Given the description of an element on the screen output the (x, y) to click on. 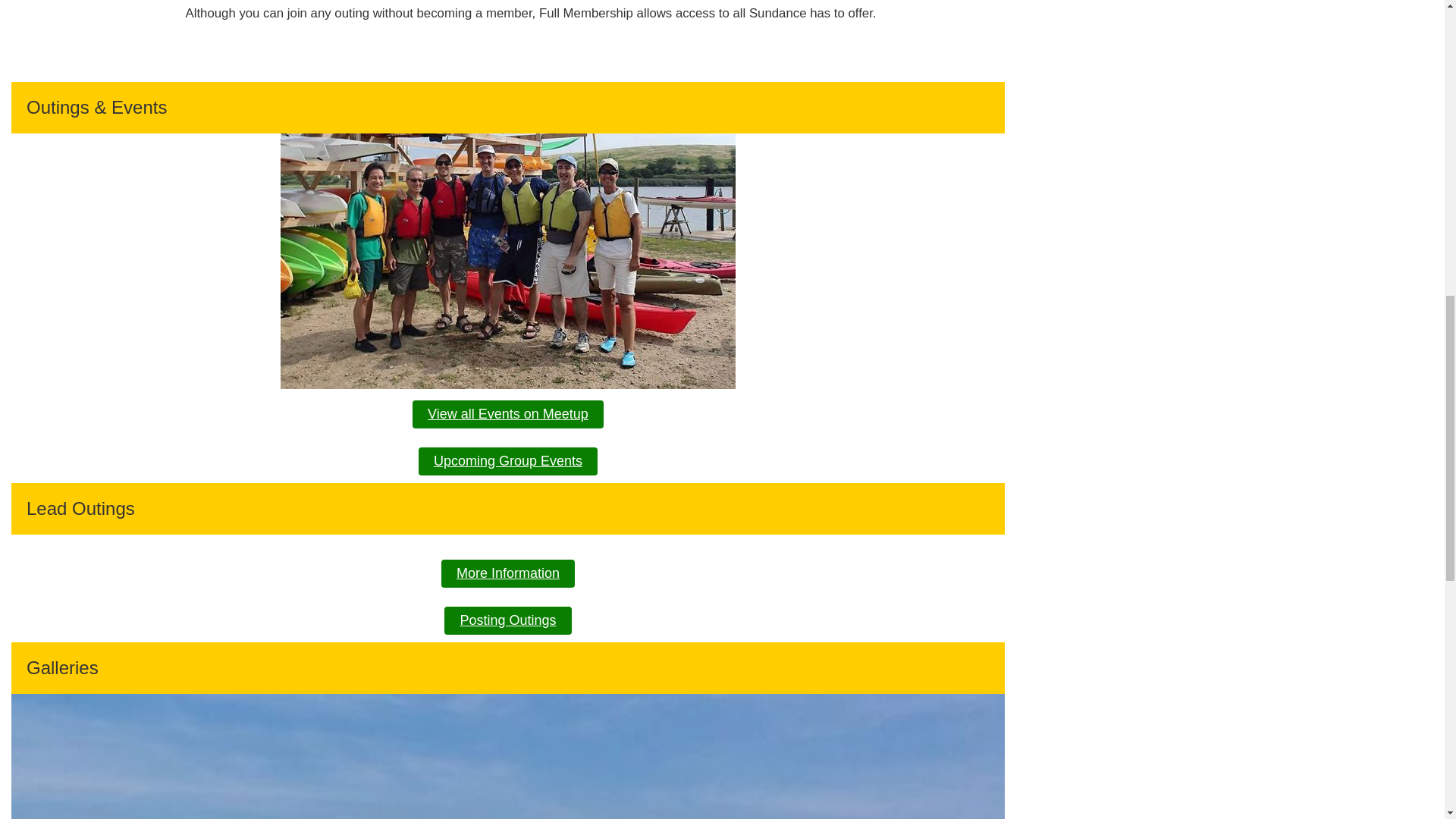
More Information (508, 573)
Tips for Members on Posting Outings (507, 620)
Posting Outings (507, 620)
View all Events on Meetup (508, 414)
Upcoming Group Events (507, 461)
